Given the description of an element on the screen output the (x, y) to click on. 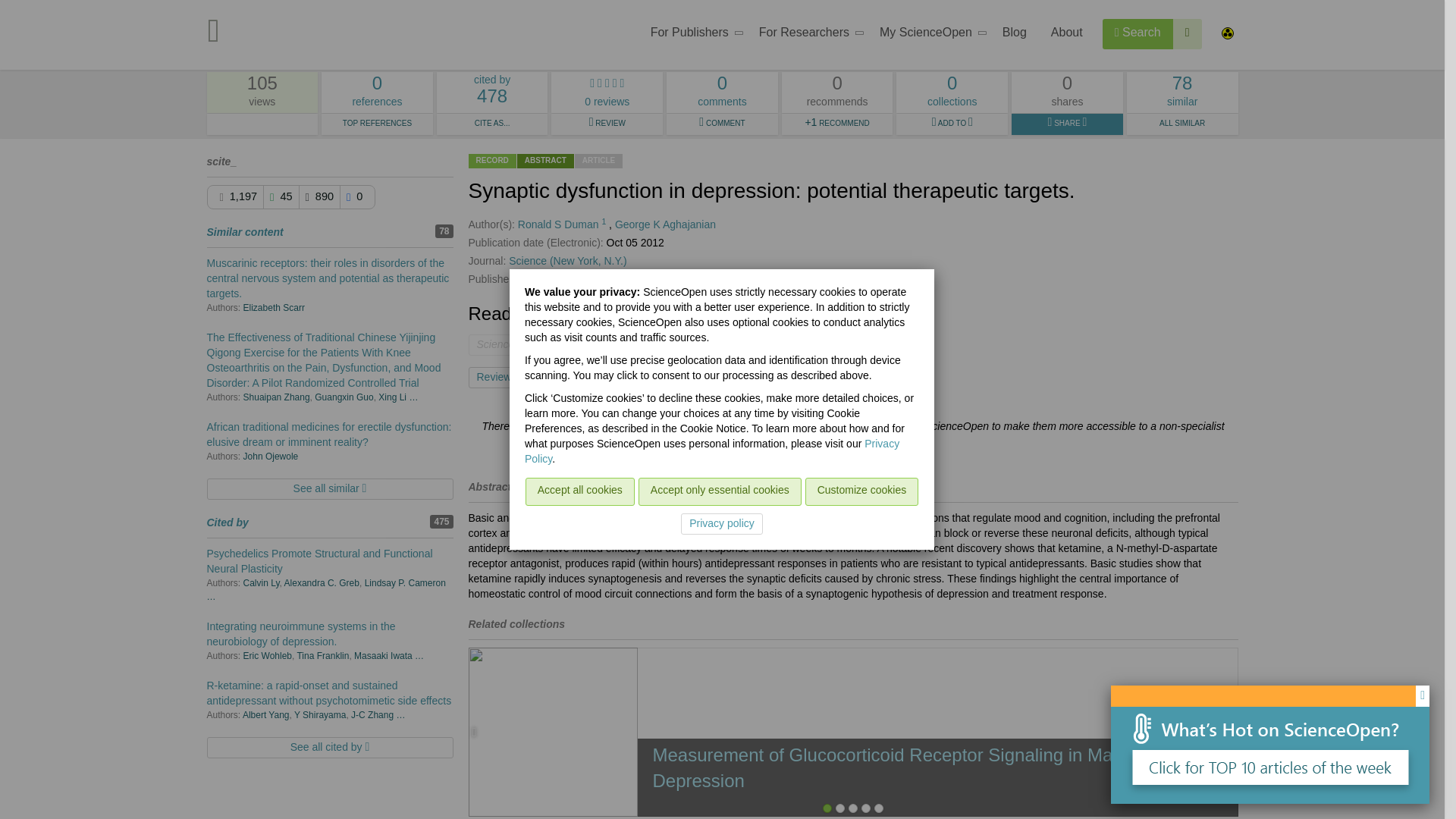
For Researchers (806, 34)
Search (376, 92)
For Publishers (1137, 33)
My ScienceOpen (692, 34)
Bookmark (928, 34)
Advanced search (569, 377)
